Given the description of an element on the screen output the (x, y) to click on. 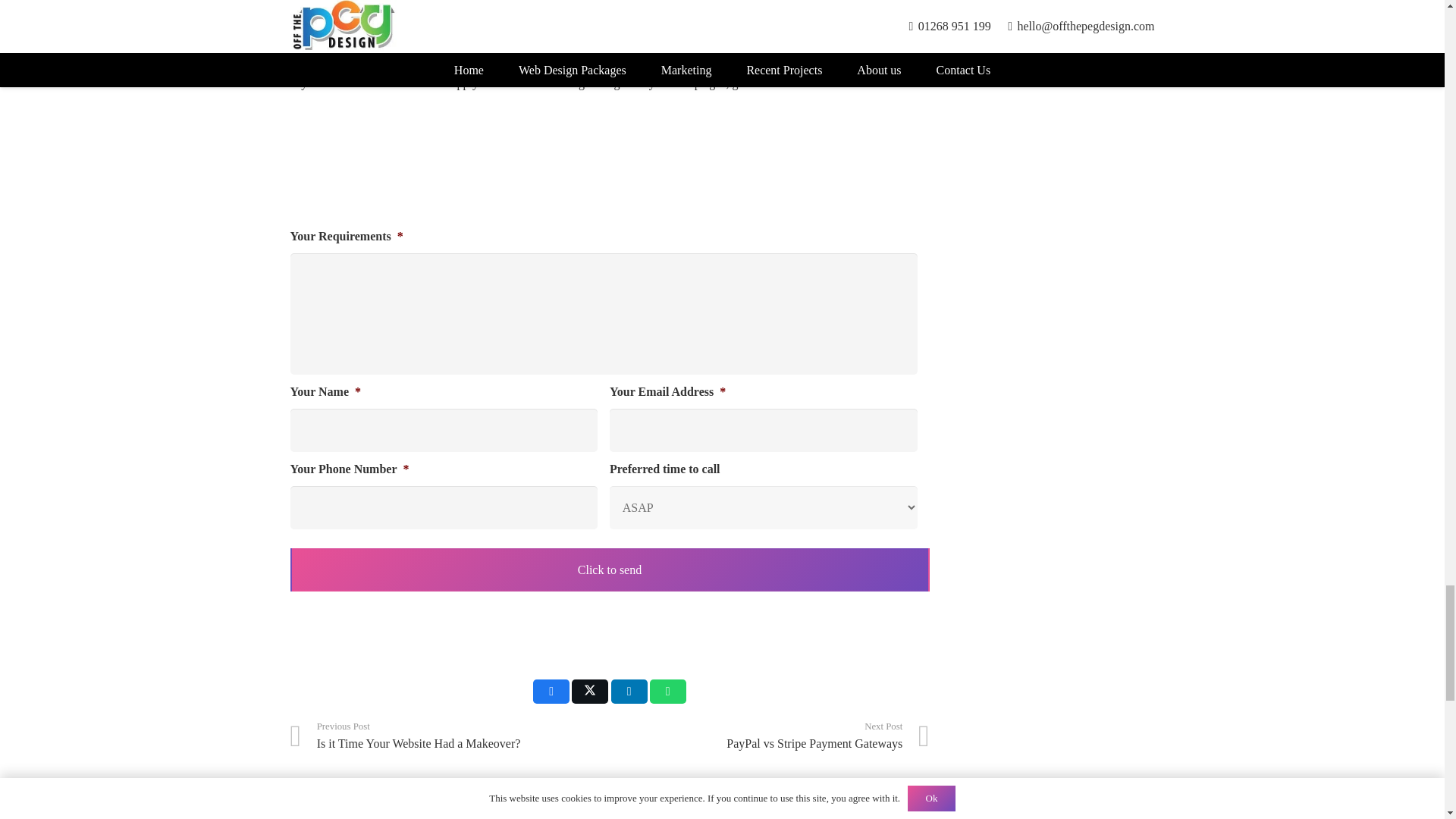
Tweet this (590, 691)
Click to send (608, 569)
Share this (550, 691)
Lets talk Google and Facebook Remarketing (603, 166)
Click to send (608, 569)
